Given the description of an element on the screen output the (x, y) to click on. 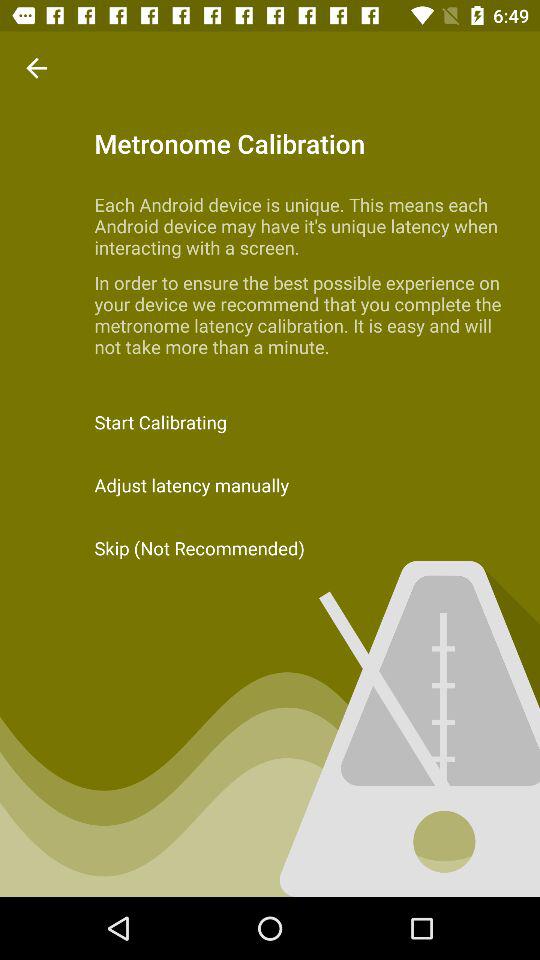
open the item below the adjust latency manually (270, 547)
